Given the description of an element on the screen output the (x, y) to click on. 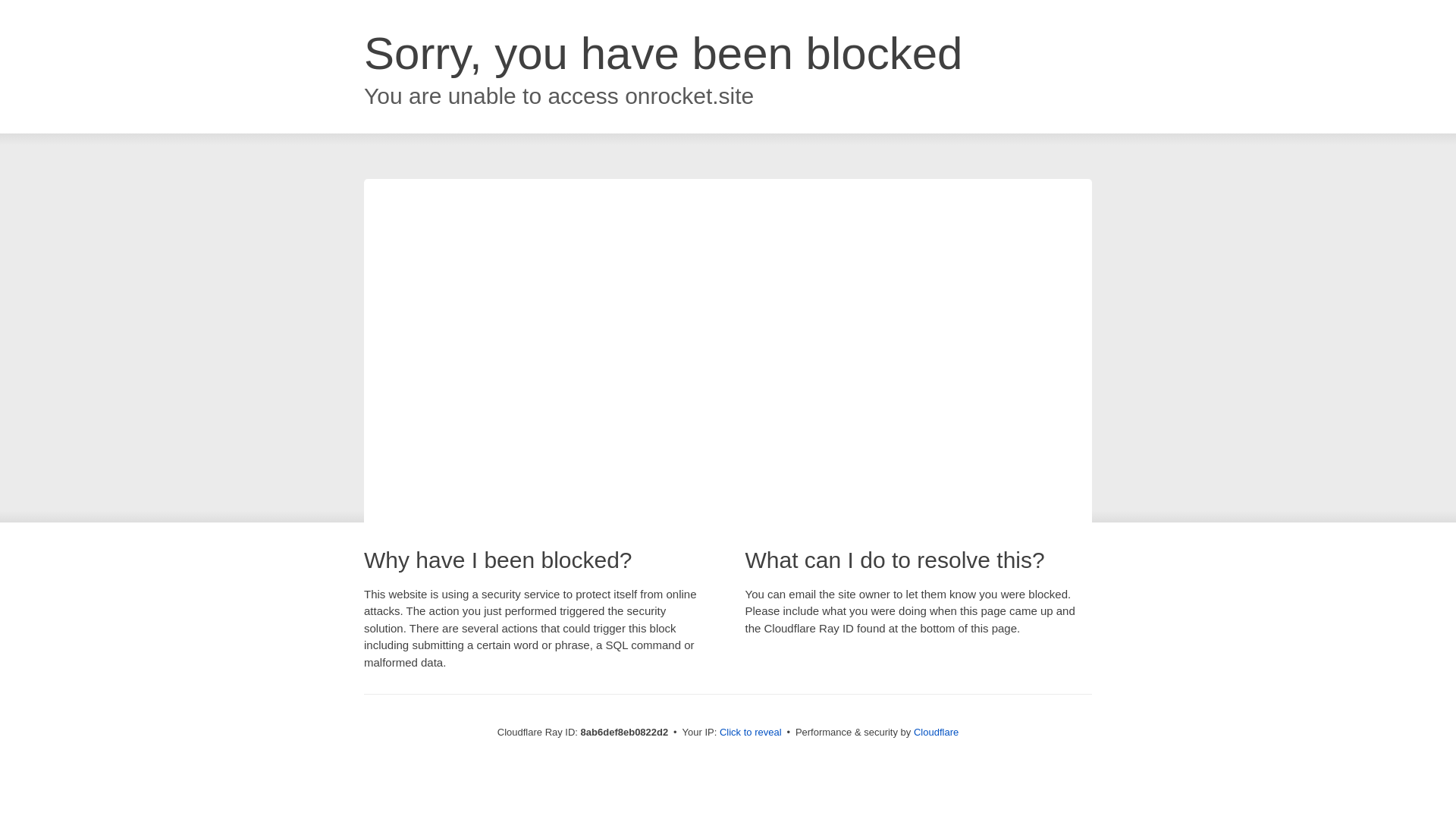
Click to reveal (750, 732)
Cloudflare (936, 731)
